Given the description of an element on the screen output the (x, y) to click on. 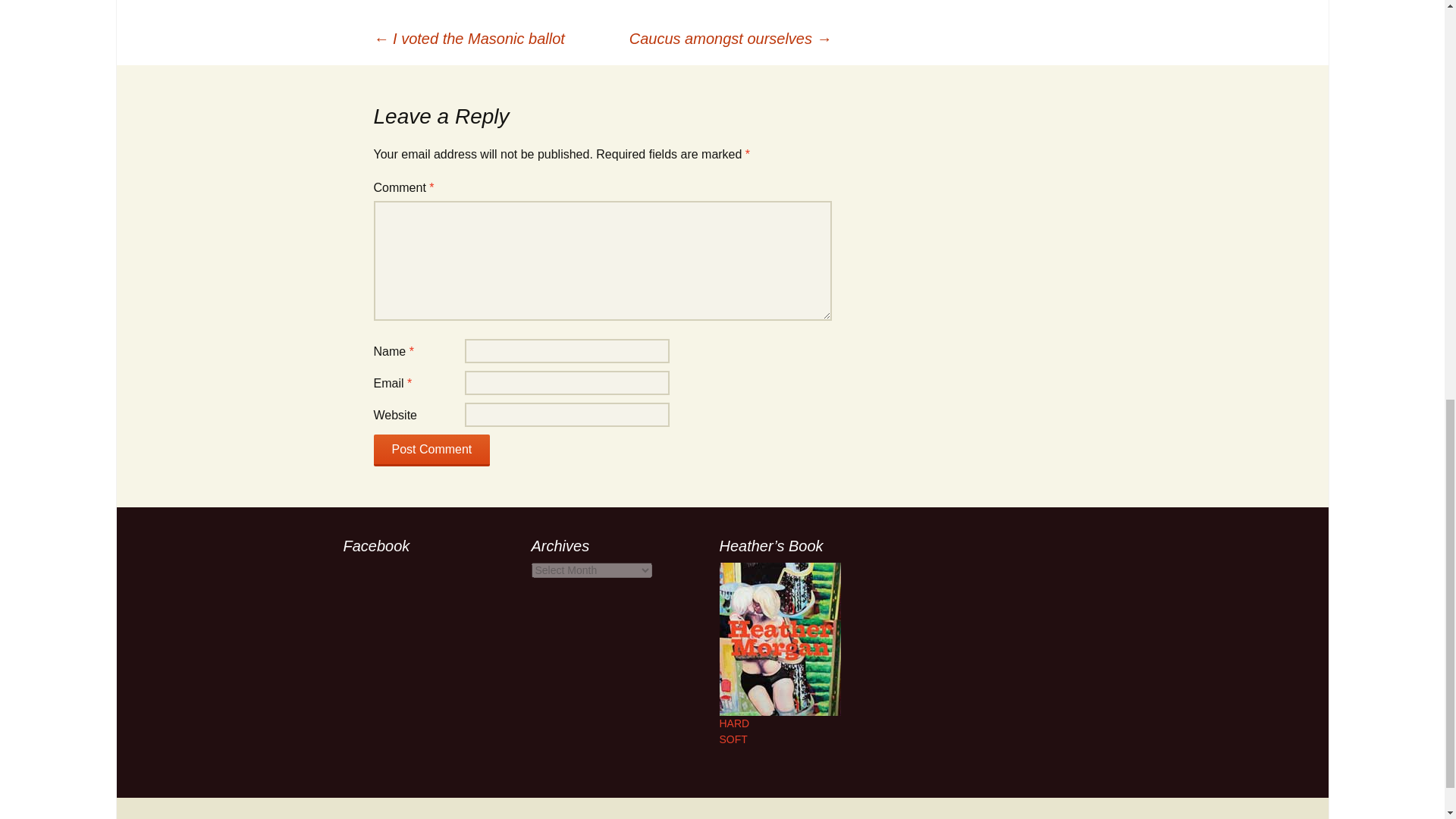
Post Comment (430, 450)
Post Comment (430, 450)
